Given the description of an element on the screen output the (x, y) to click on. 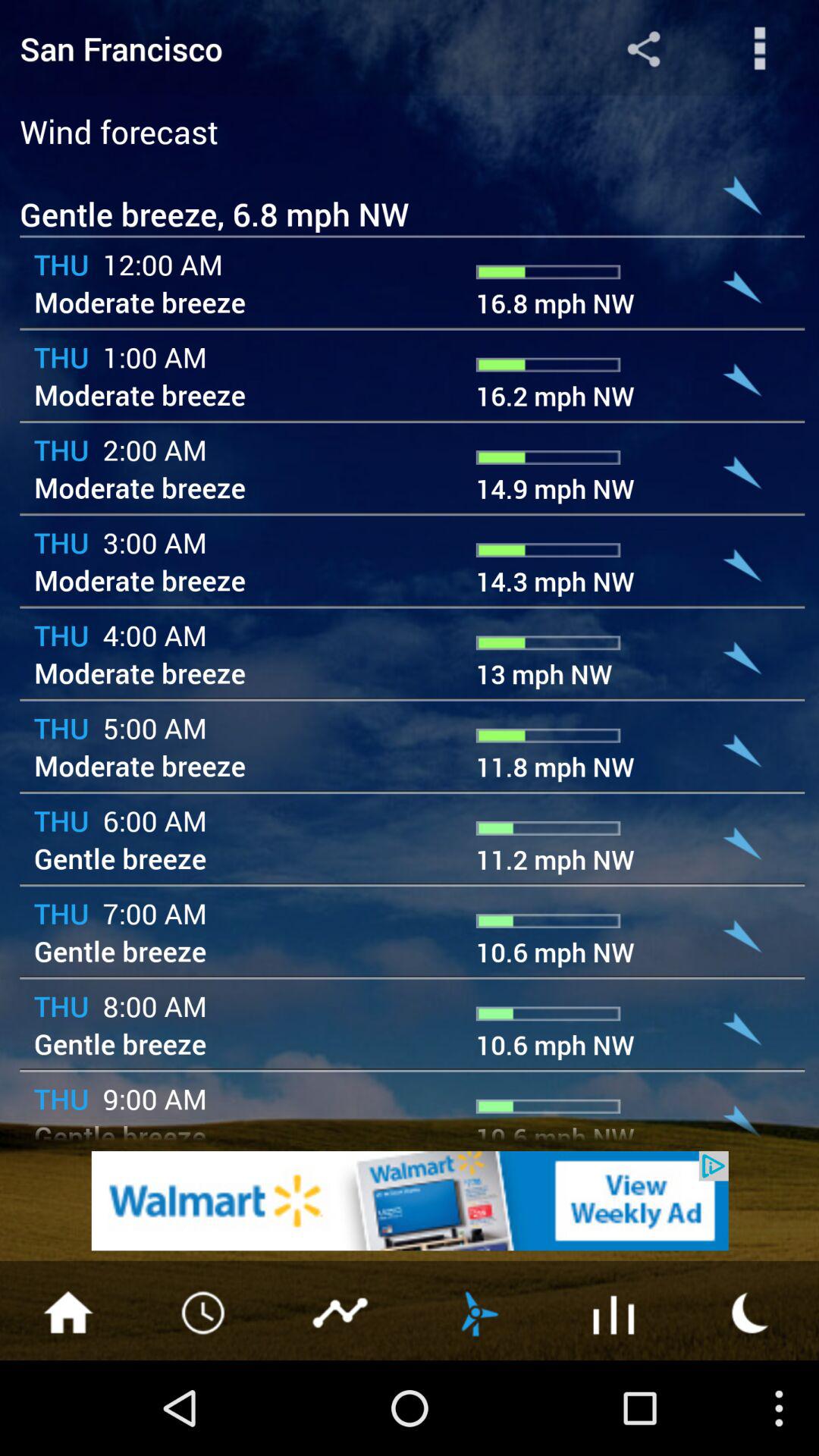
open advertisement (409, 1200)
